Given the description of an element on the screen output the (x, y) to click on. 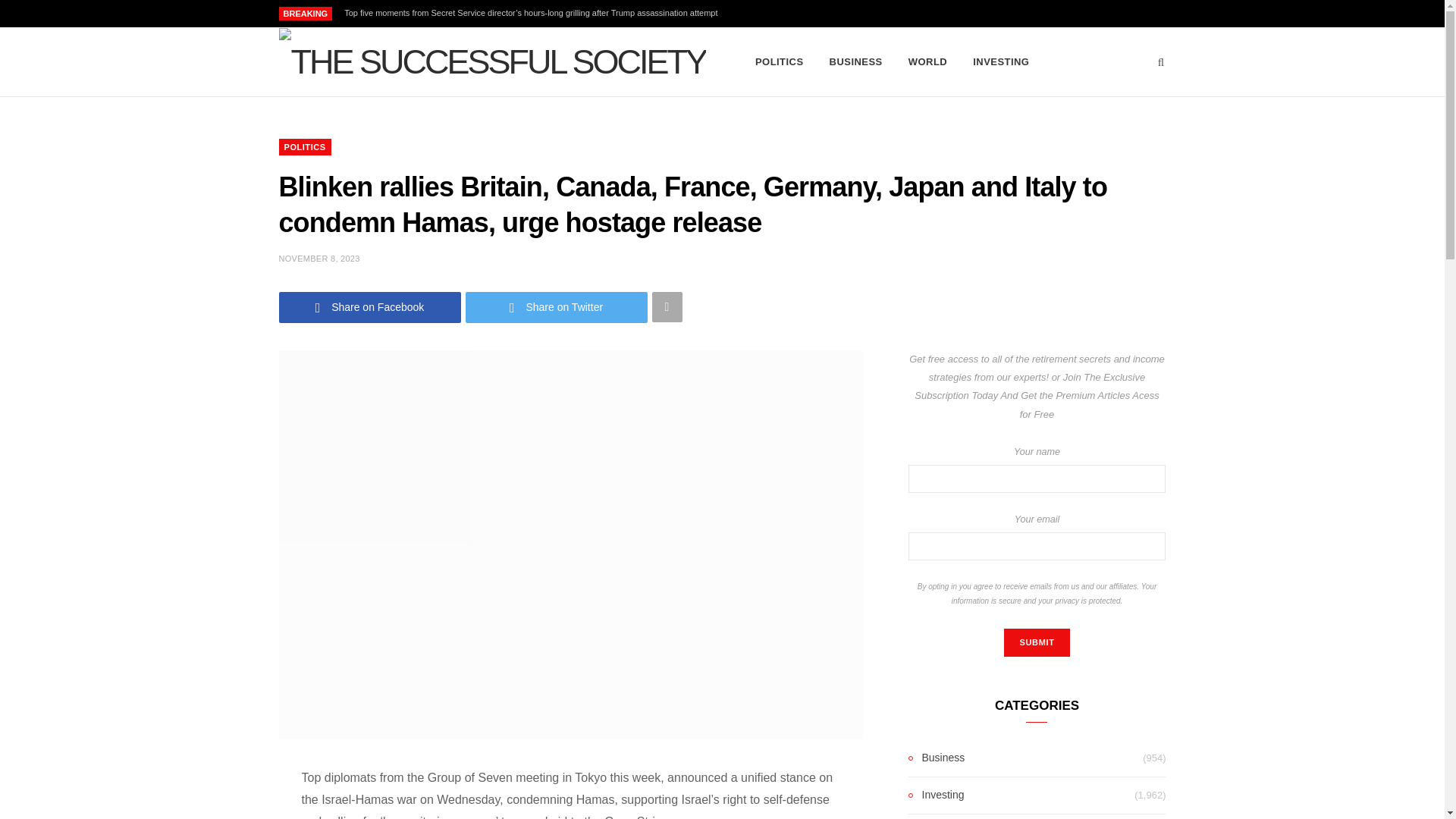
Share on Facebook (370, 306)
Share on Twitter (556, 306)
NOVEMBER 8, 2023 (319, 257)
POLITICS (779, 61)
Share on Facebook (370, 306)
INVESTING (1000, 61)
Share on Twitter (556, 306)
The Successful Society (492, 61)
BUSINESS (855, 61)
POLITICS (305, 146)
Submit (1036, 642)
WORLD (927, 61)
